Given the description of an element on the screen output the (x, y) to click on. 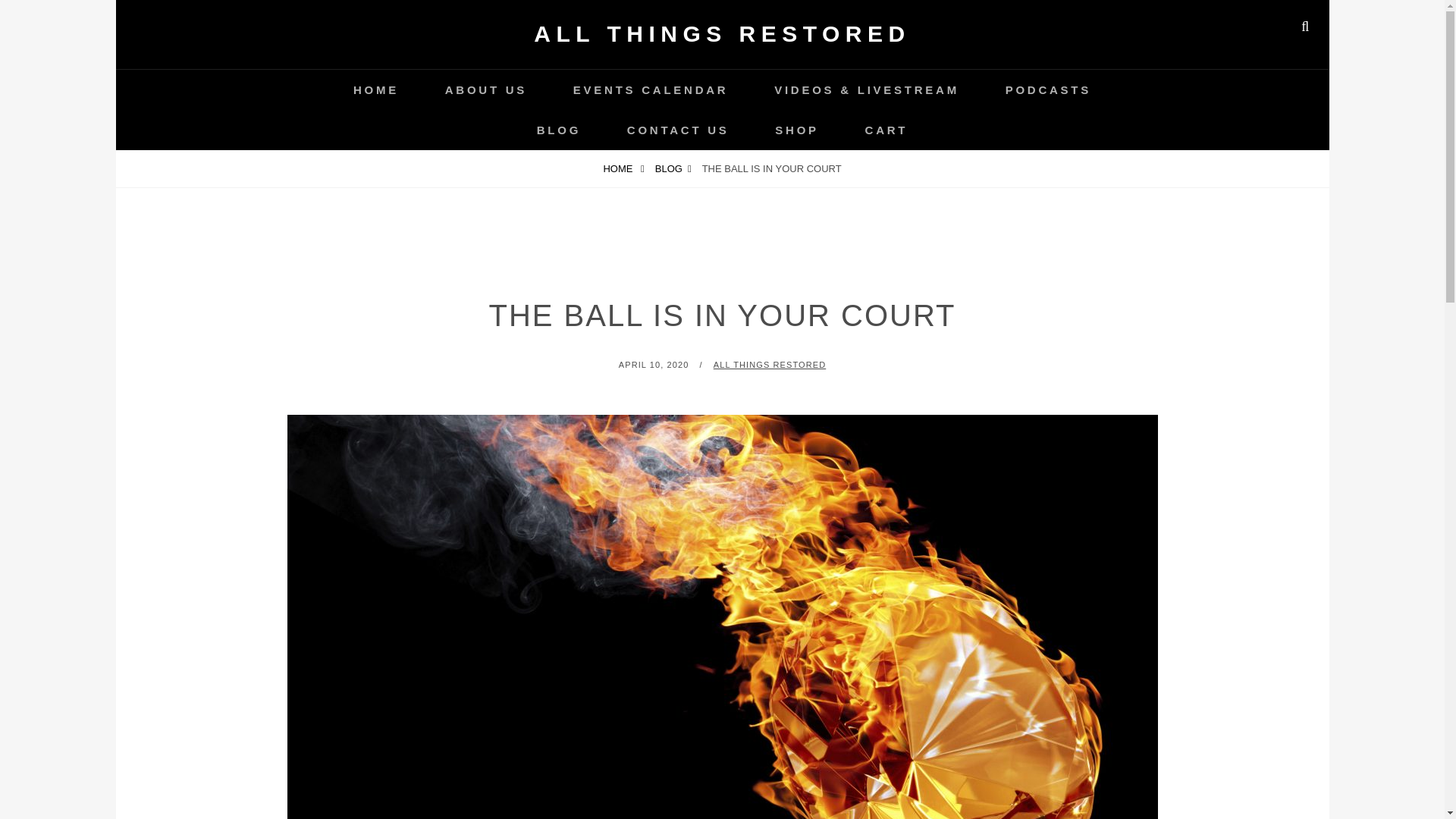
HOME (375, 89)
ALL THINGS RESTORED (722, 33)
PODCASTS (1048, 89)
CONTACT US (678, 129)
ABOUT US (485, 89)
HOME (622, 168)
SHOP (797, 129)
EVENTS CALENDAR (650, 89)
BLOG (673, 168)
ALL THINGS RESTORED (769, 364)
